Given the description of an element on the screen output the (x, y) to click on. 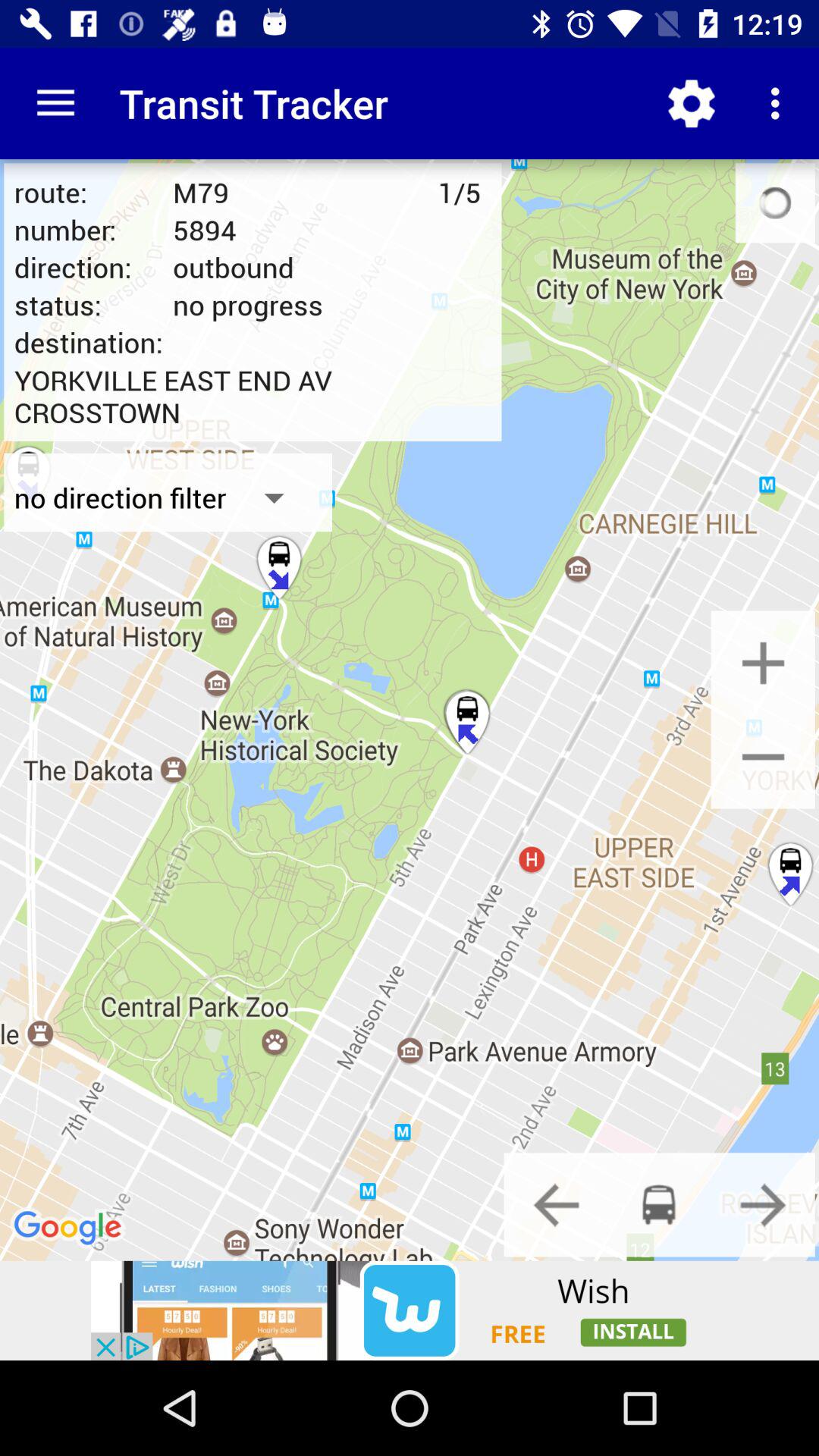
car (659, 1204)
